Given the description of an element on the screen output the (x, y) to click on. 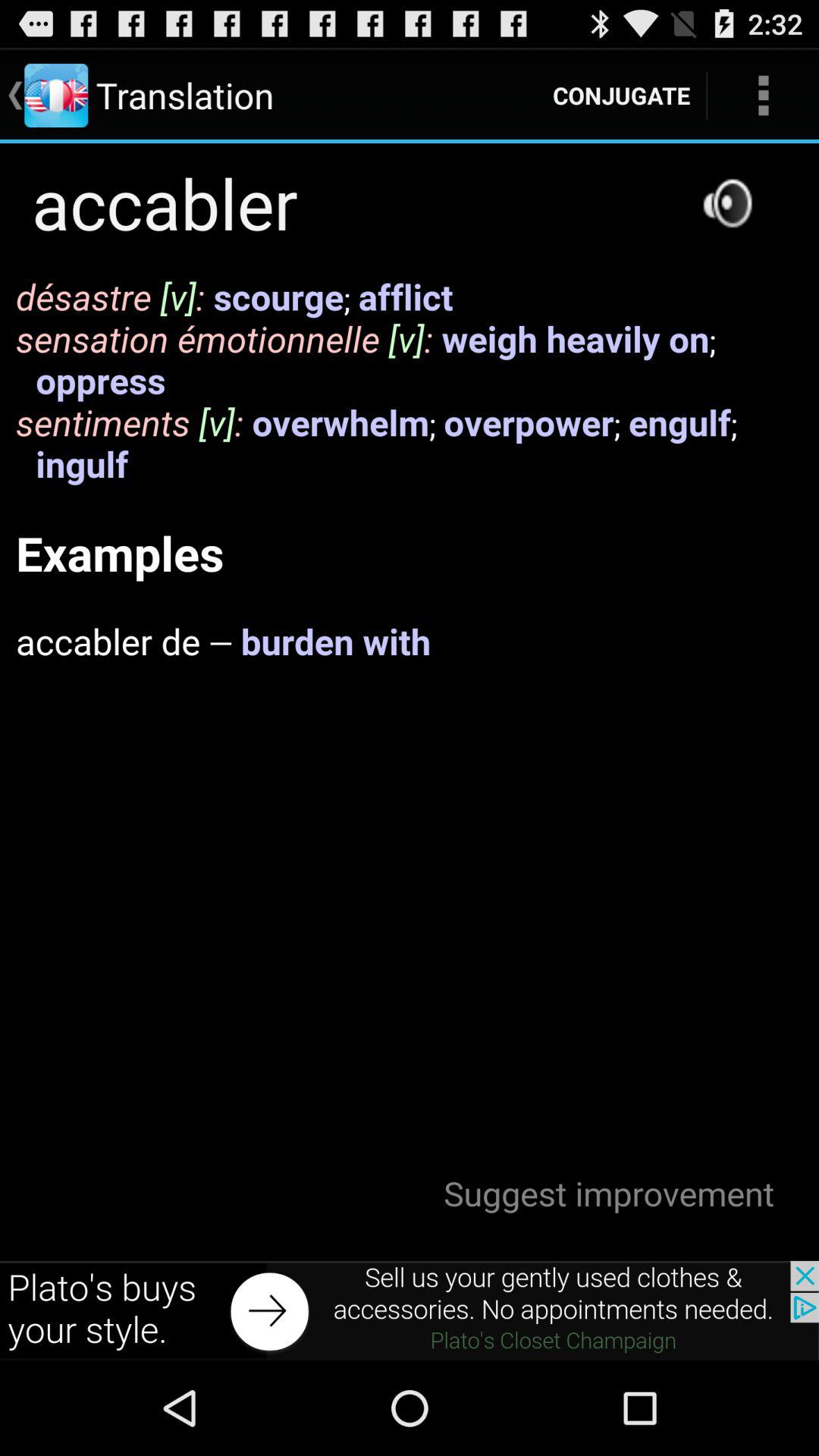
link to site (409, 1310)
